Given the description of an element on the screen output the (x, y) to click on. 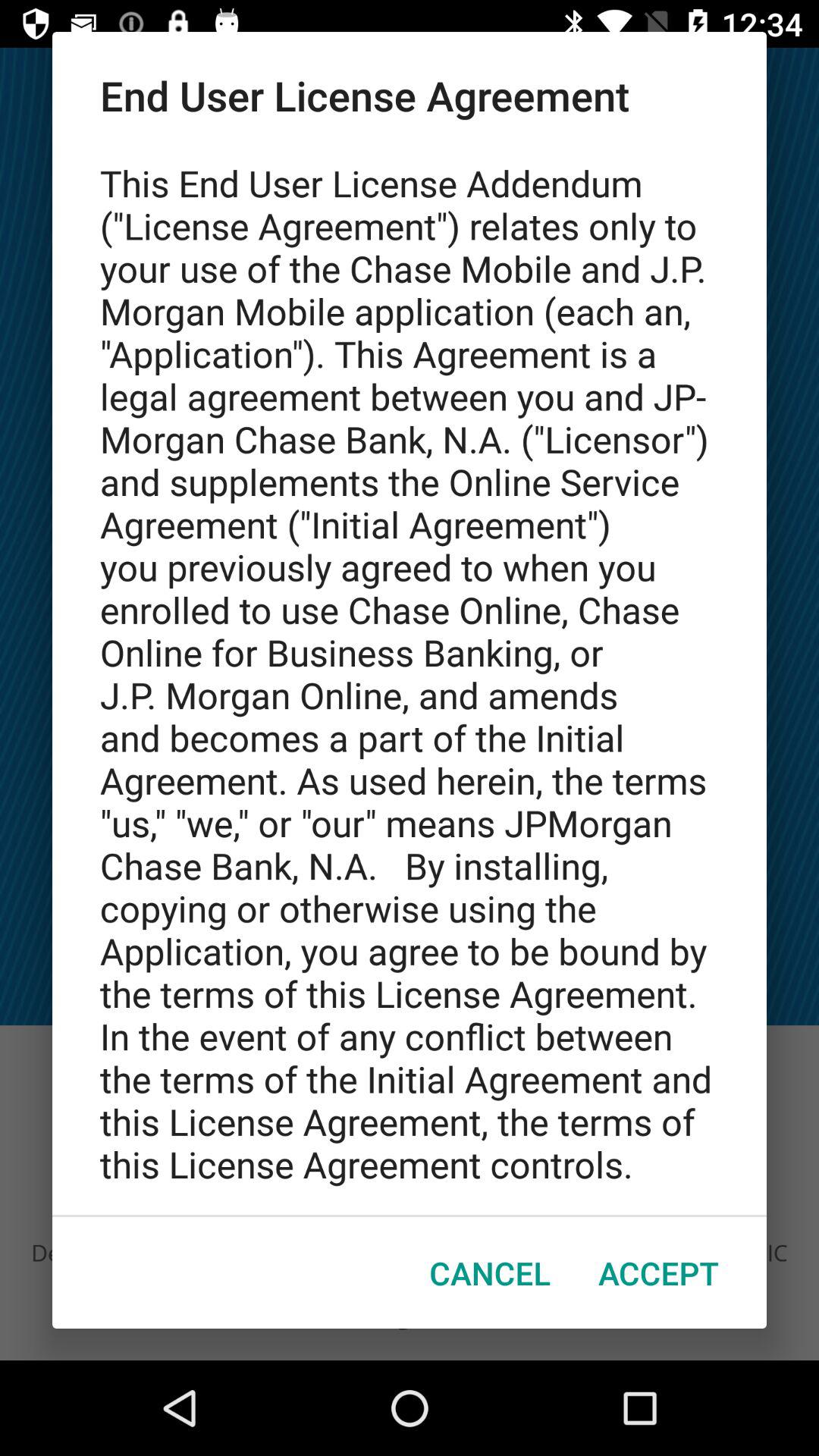
turn off the accept at the bottom right corner (658, 1272)
